Given the description of an element on the screen output the (x, y) to click on. 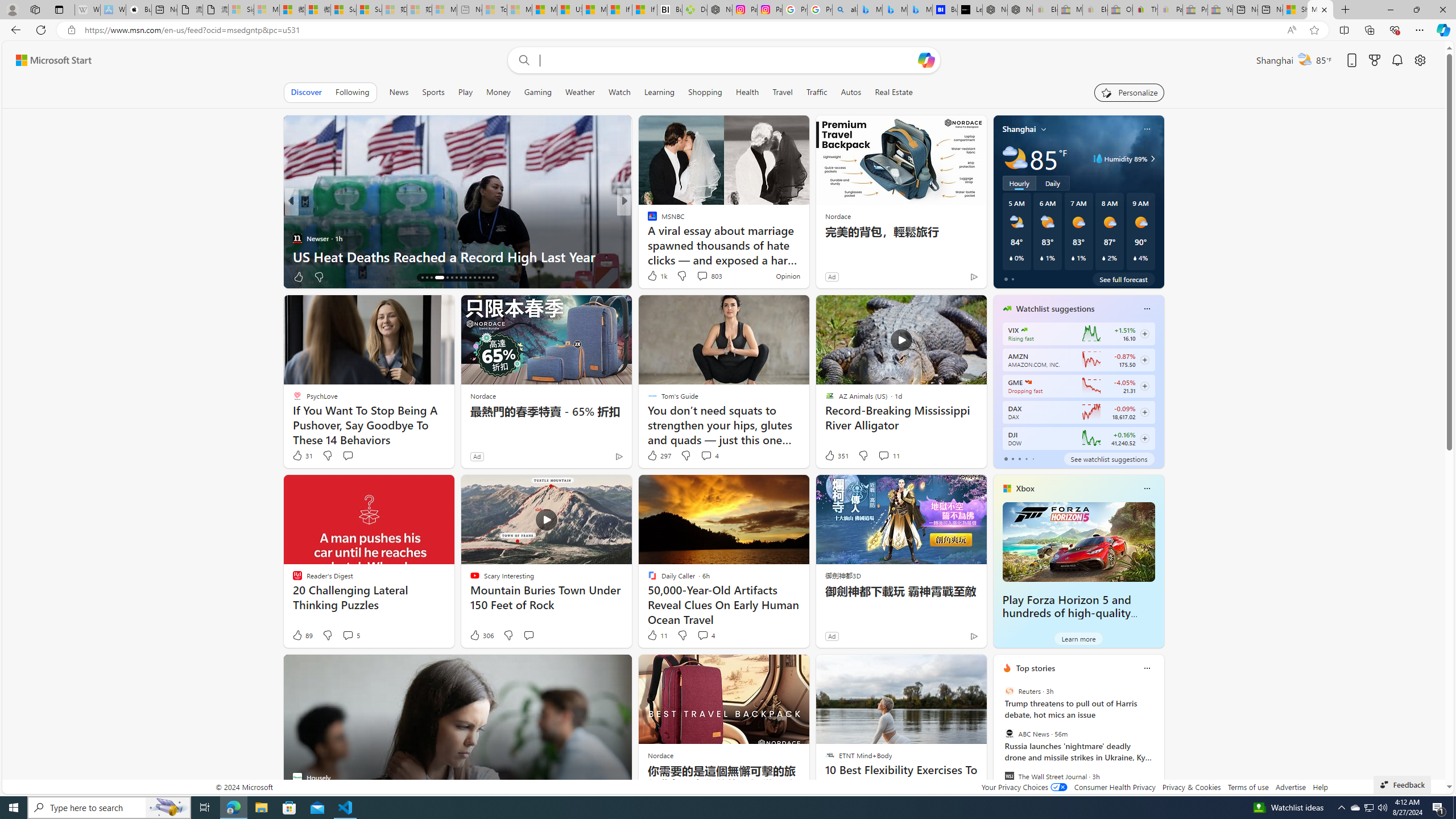
Partly cloudy (1014, 158)
The Weather Channel (647, 238)
View comments 2 Comment (698, 276)
View comments 803 Comment (701, 275)
Top stories (1035, 668)
See full forecast (1123, 278)
AutomationID: tab-21 (451, 277)
tab-1 (1012, 458)
Microsoft Services Agreement - Sleeping (265, 9)
Class: follow-button  m (1144, 438)
Xbox (1025, 488)
